Given the description of an element on the screen output the (x, y) to click on. 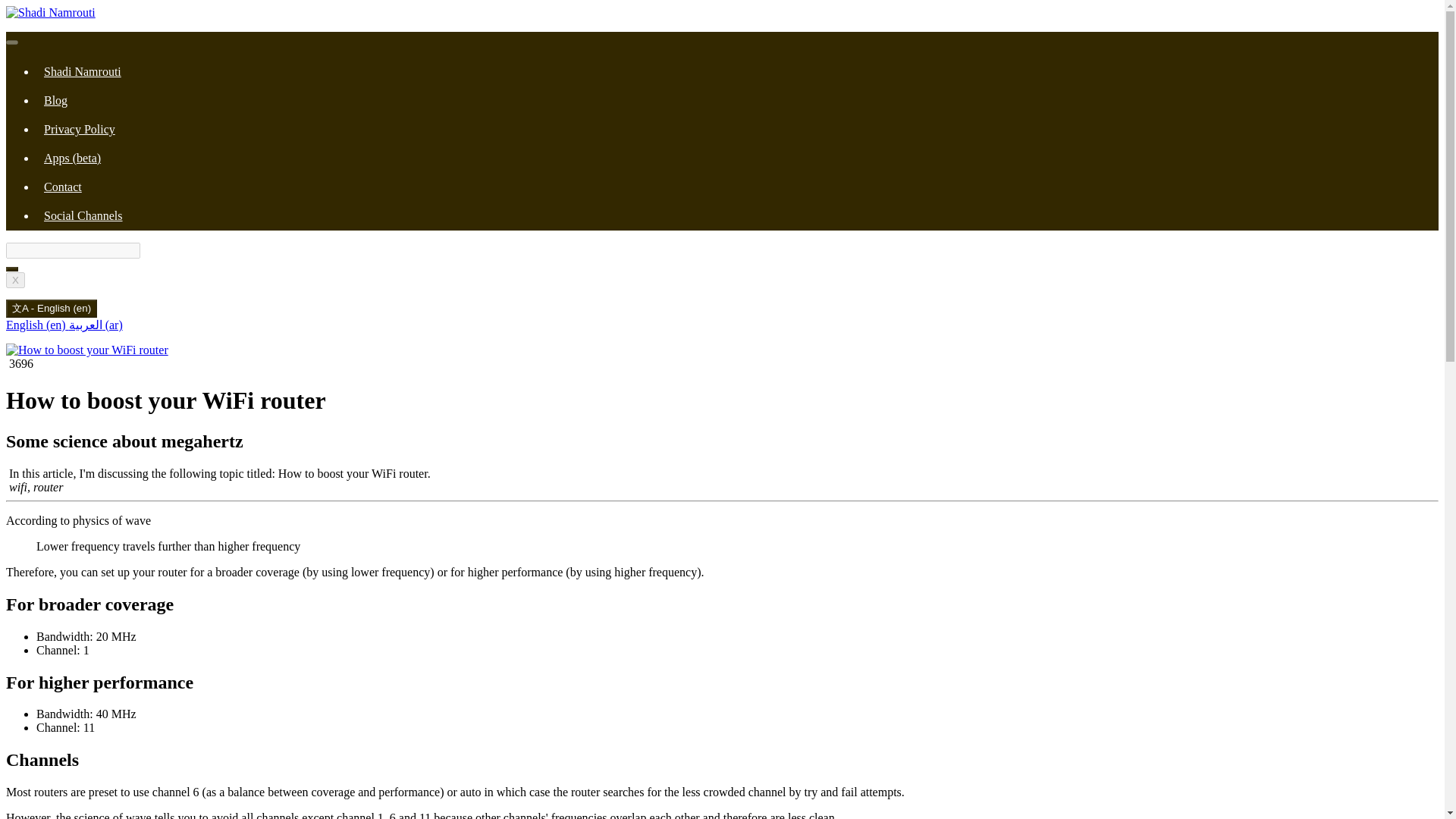
How to boost your WiFi router (86, 350)
X (14, 279)
Shadi Namrouti (81, 71)
Contact (62, 186)
Social Channels (82, 215)
Blog (54, 100)
Privacy Policy (79, 128)
